Given the description of an element on the screen output the (x, y) to click on. 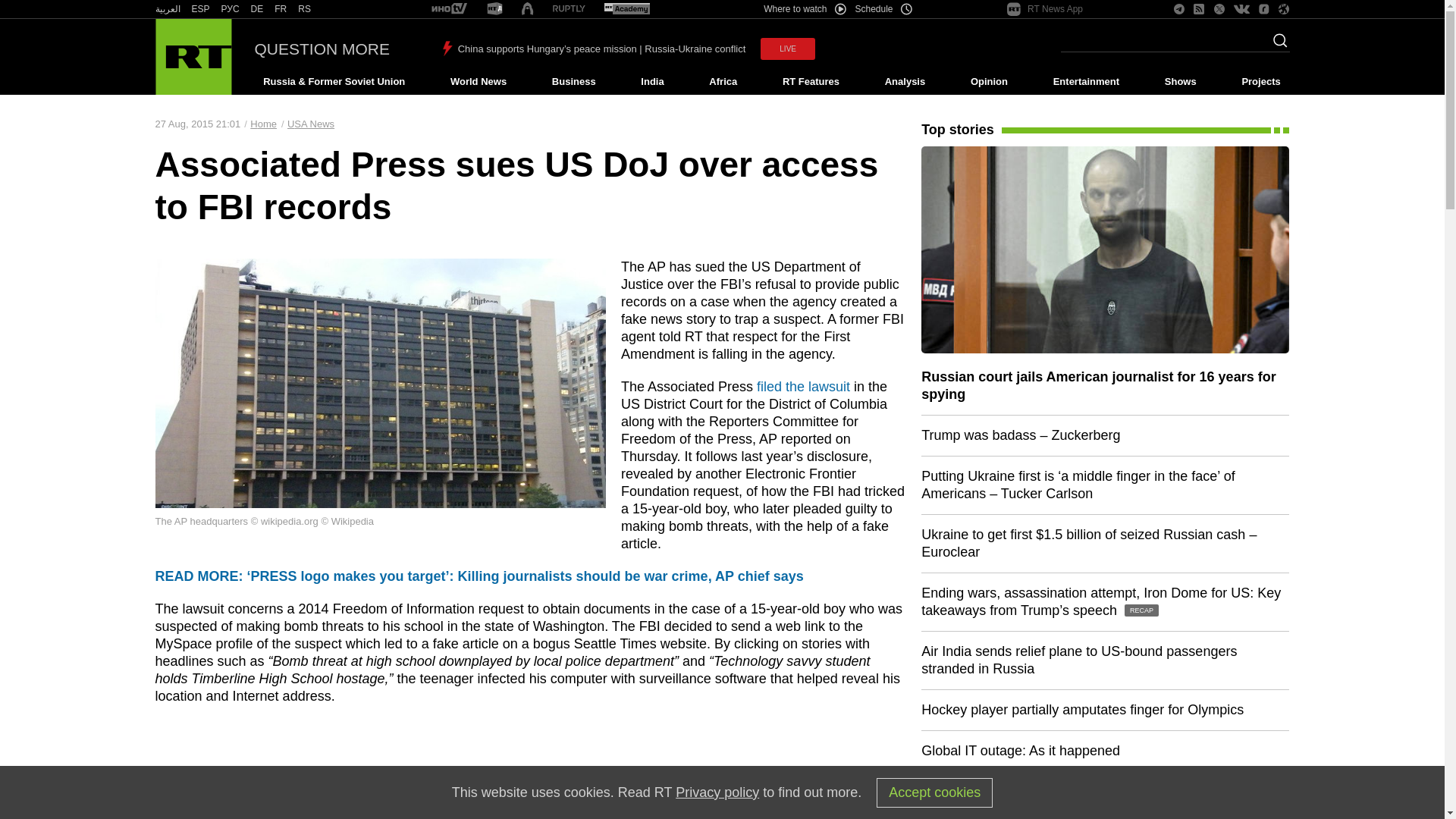
Business (573, 81)
QUESTION MORE (322, 48)
India (651, 81)
RT  (494, 9)
RT  (199, 9)
FR (280, 9)
RT  (256, 9)
Entertainment (1085, 81)
RS (304, 9)
RT  (448, 9)
LIVE (787, 48)
RT  (626, 9)
Search (1276, 44)
Schedule (884, 9)
RT  (230, 9)
